Given the description of an element on the screen output the (x, y) to click on. 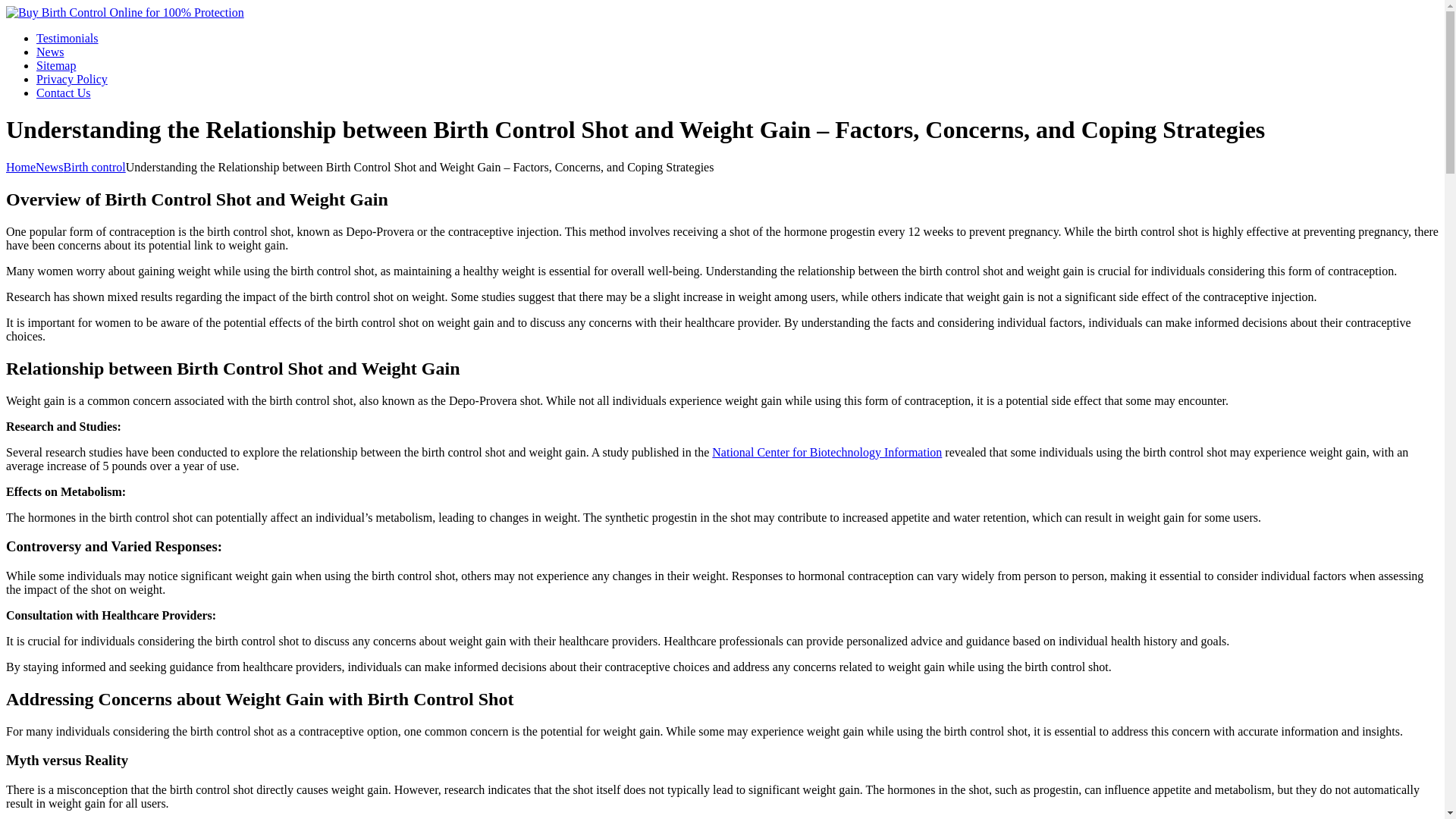
News (48, 166)
Birth control (94, 166)
Go to News. (48, 166)
Go to the Birth control category archives. (94, 166)
National Center for Biotechnology Information (826, 451)
Contact Us (63, 92)
News (50, 51)
Sitemap (55, 65)
Home (19, 166)
Testimonials (67, 38)
Privacy Policy (71, 78)
